Given the description of an element on the screen output the (x, y) to click on. 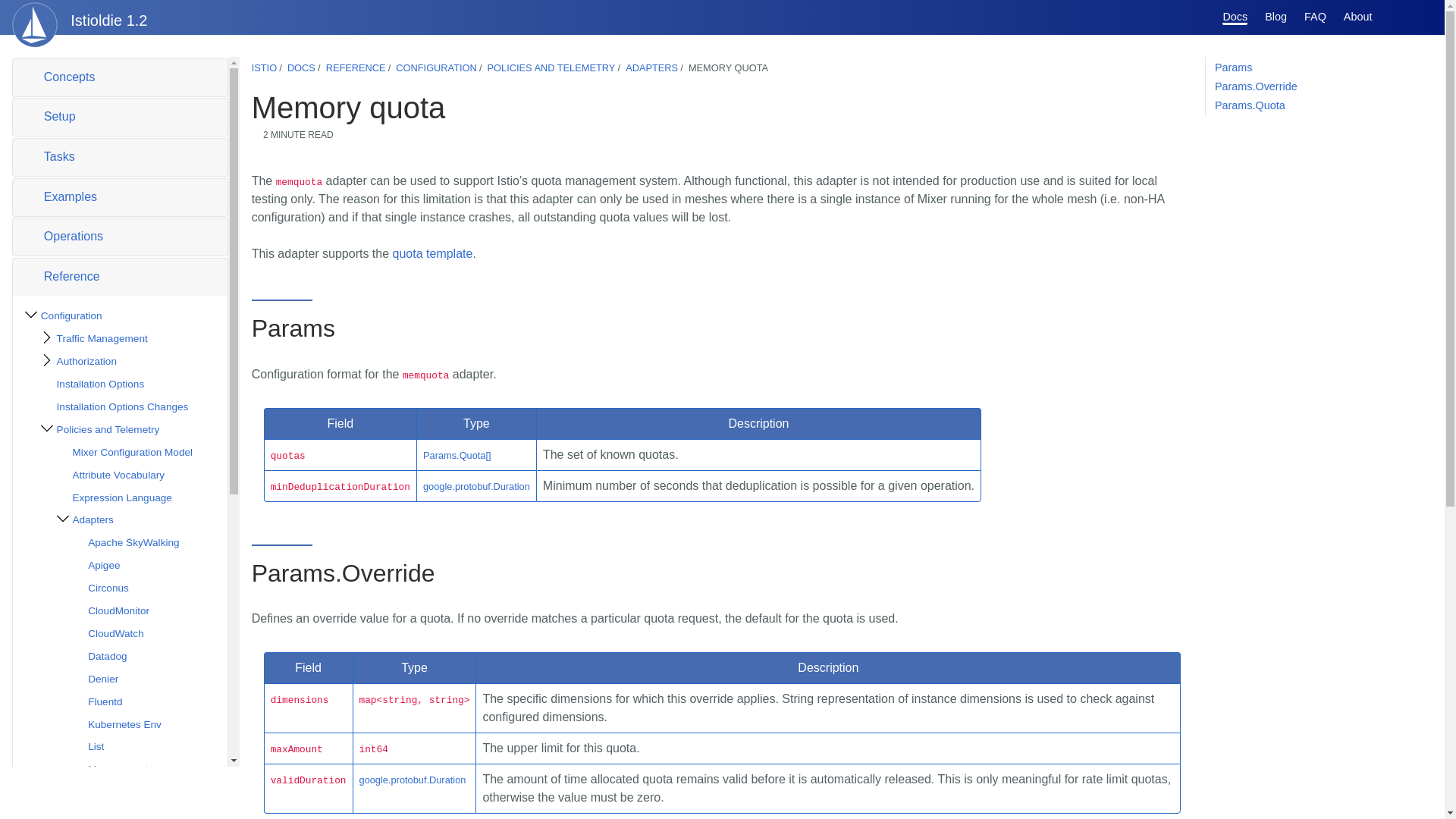
Istioldie 1.2 (82, 17)
Learn how to deploy, use, and operate Istio. (1235, 17)
Frequently Asked Questions about Istio. (1315, 16)
Options and settings (1391, 16)
Search this site (1417, 16)
FAQ (1315, 16)
Concepts (120, 77)
Get a bit more in-depth info about the Istio project. (1358, 16)
Setup (120, 116)
About (1358, 16)
Posts about using Istio. (1276, 16)
Blog (1276, 16)
